Given the description of an element on the screen output the (x, y) to click on. 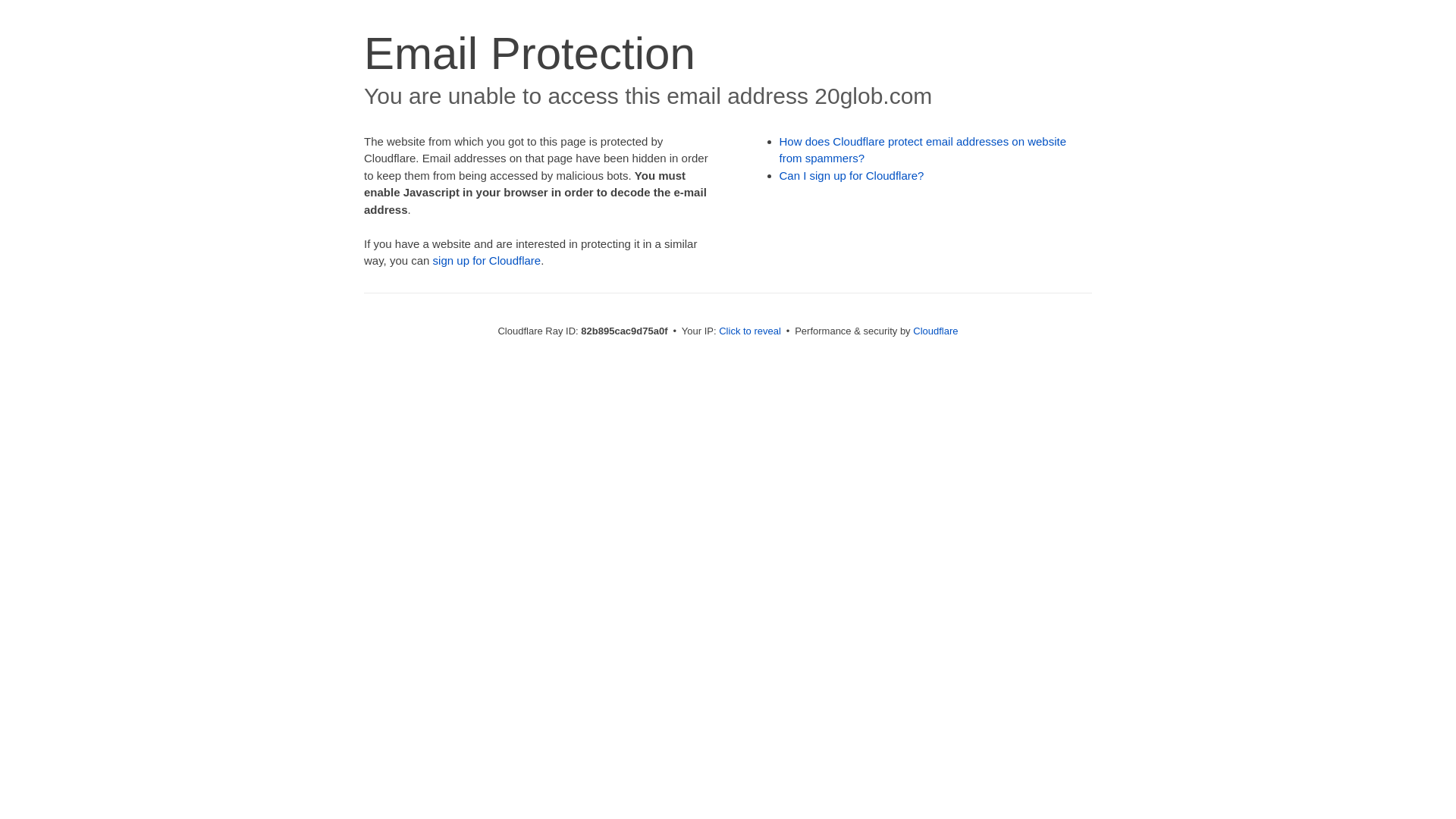
Can I sign up for Cloudflare? Element type: text (851, 175)
sign up for Cloudflare Element type: text (487, 260)
Cloudflare Element type: text (935, 330)
Click to reveal Element type: text (749, 330)
